Given the description of an element on the screen output the (x, y) to click on. 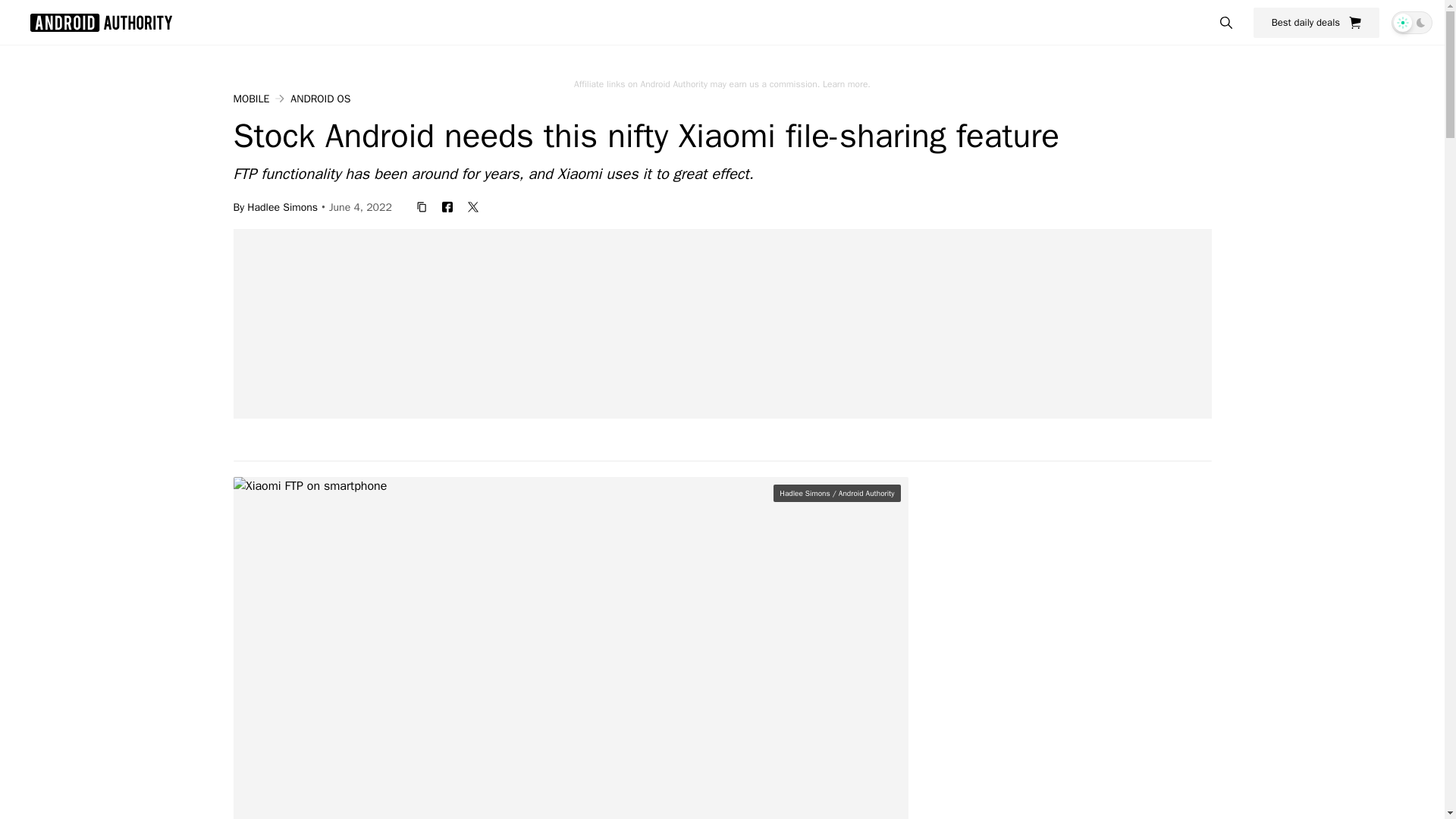
MOBILE (250, 98)
ANDROID OS (319, 98)
facebook (446, 207)
Hadlee Simons (282, 206)
Learn more. (846, 83)
twitter (473, 207)
Best daily deals (1315, 22)
